Given the description of an element on the screen output the (x, y) to click on. 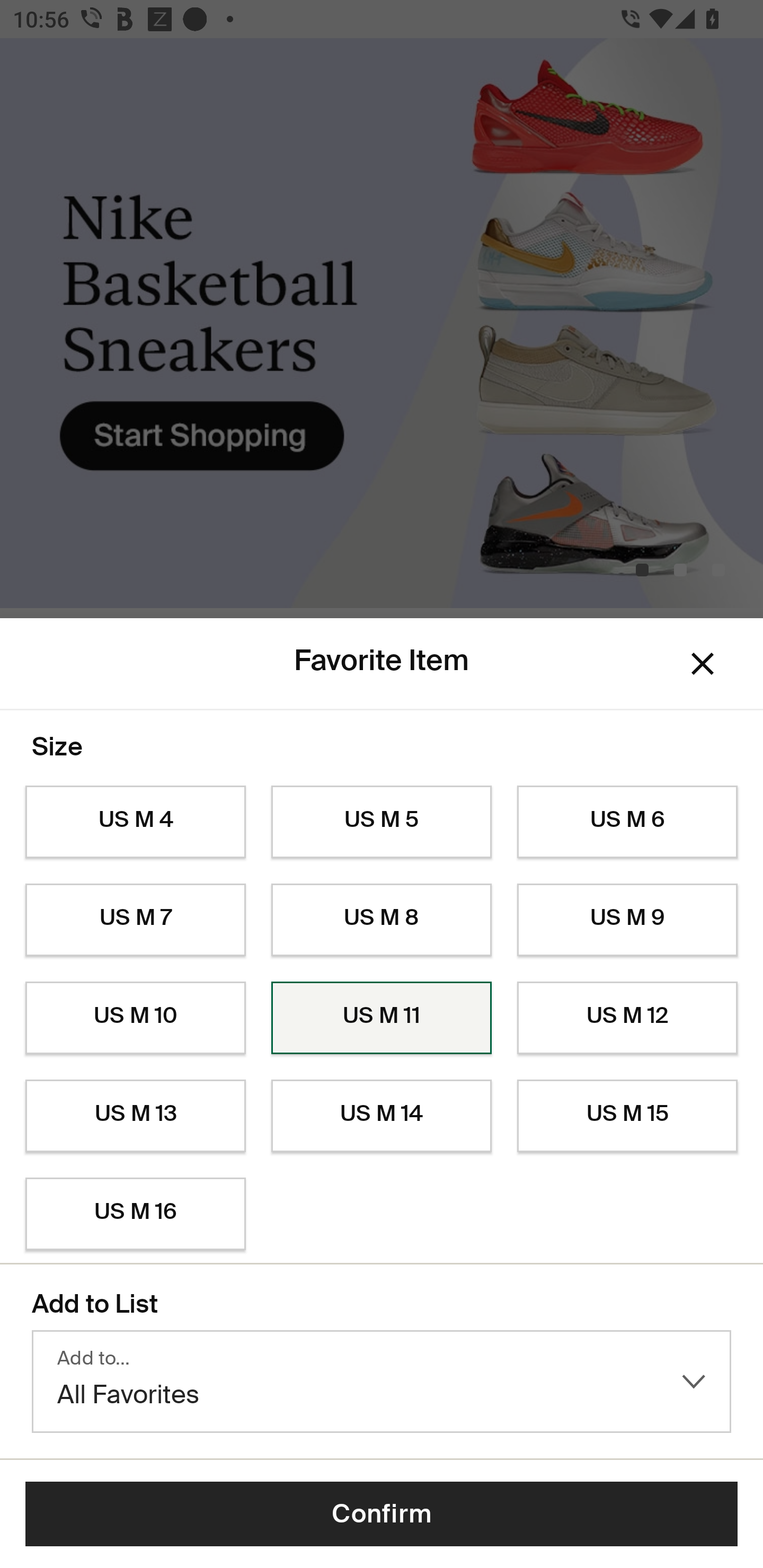
Dismiss (702, 663)
US M 4 (135, 822)
US M 5 (381, 822)
US M 6 (627, 822)
US M 7 (135, 919)
US M 8 (381, 919)
US M 9 (627, 919)
US M 10 (135, 1018)
US M 11 (381, 1018)
US M 12 (627, 1018)
US M 13 (135, 1116)
US M 14 (381, 1116)
US M 15 (627, 1116)
US M 16 (135, 1214)
Add to… All Favorites (381, 1381)
Confirm (381, 1513)
